Given the description of an element on the screen output the (x, y) to click on. 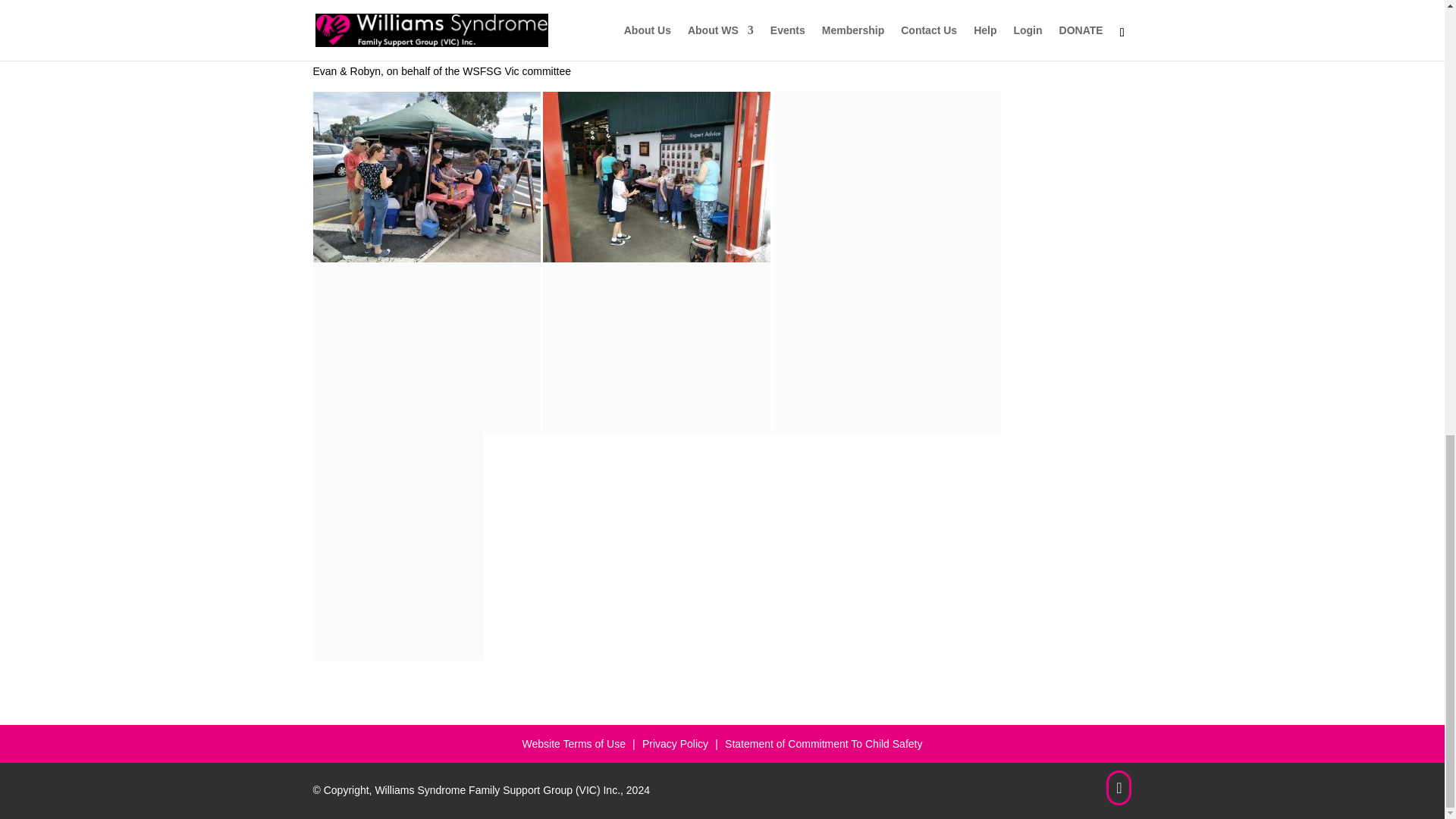
Website Terms of Use (572, 746)
IMG20171008124327 (1118, 801)
